Given the description of an element on the screen output the (x, y) to click on. 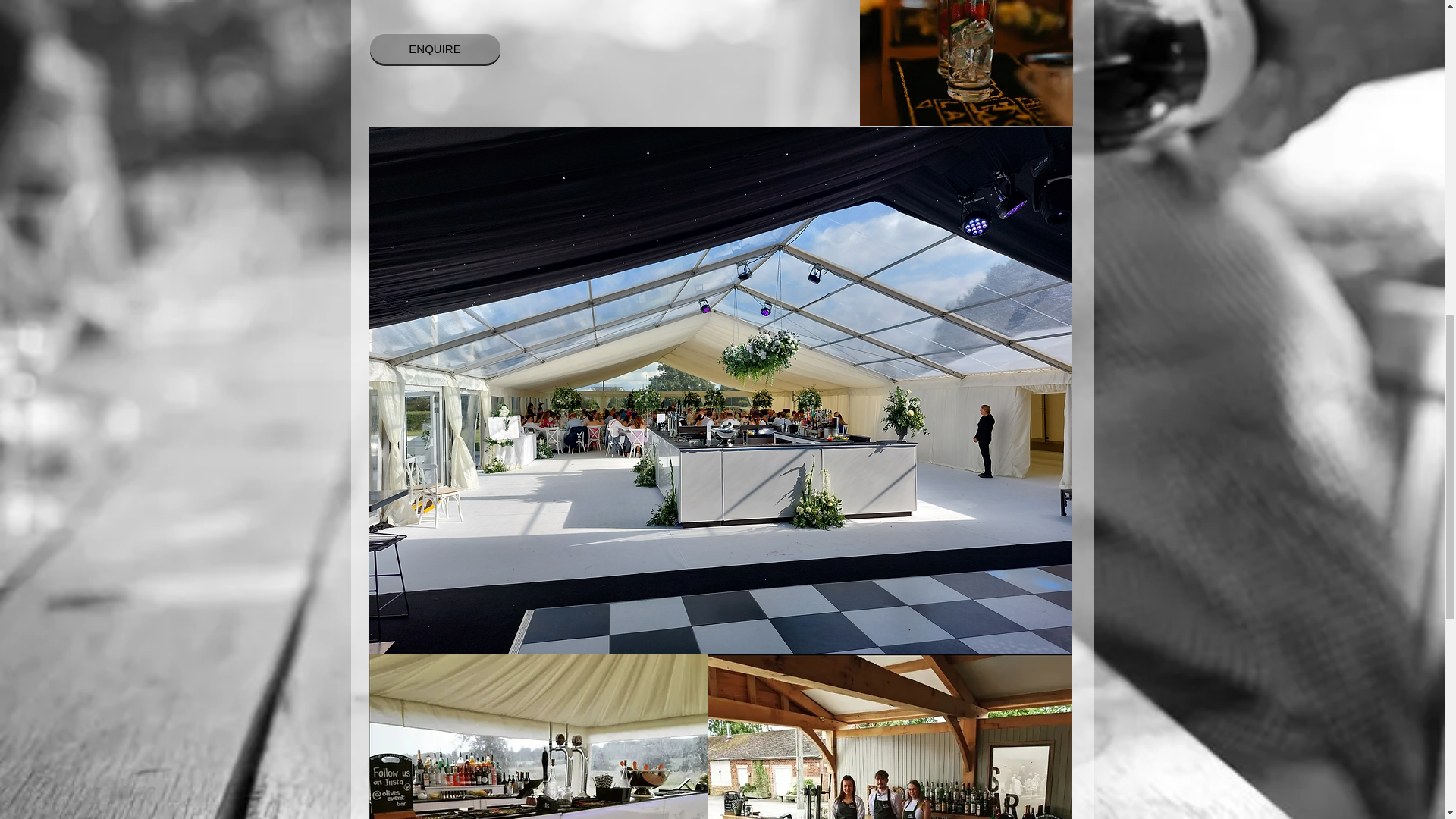
ENQUIRE (434, 48)
